Given the description of an element on the screen output the (x, y) to click on. 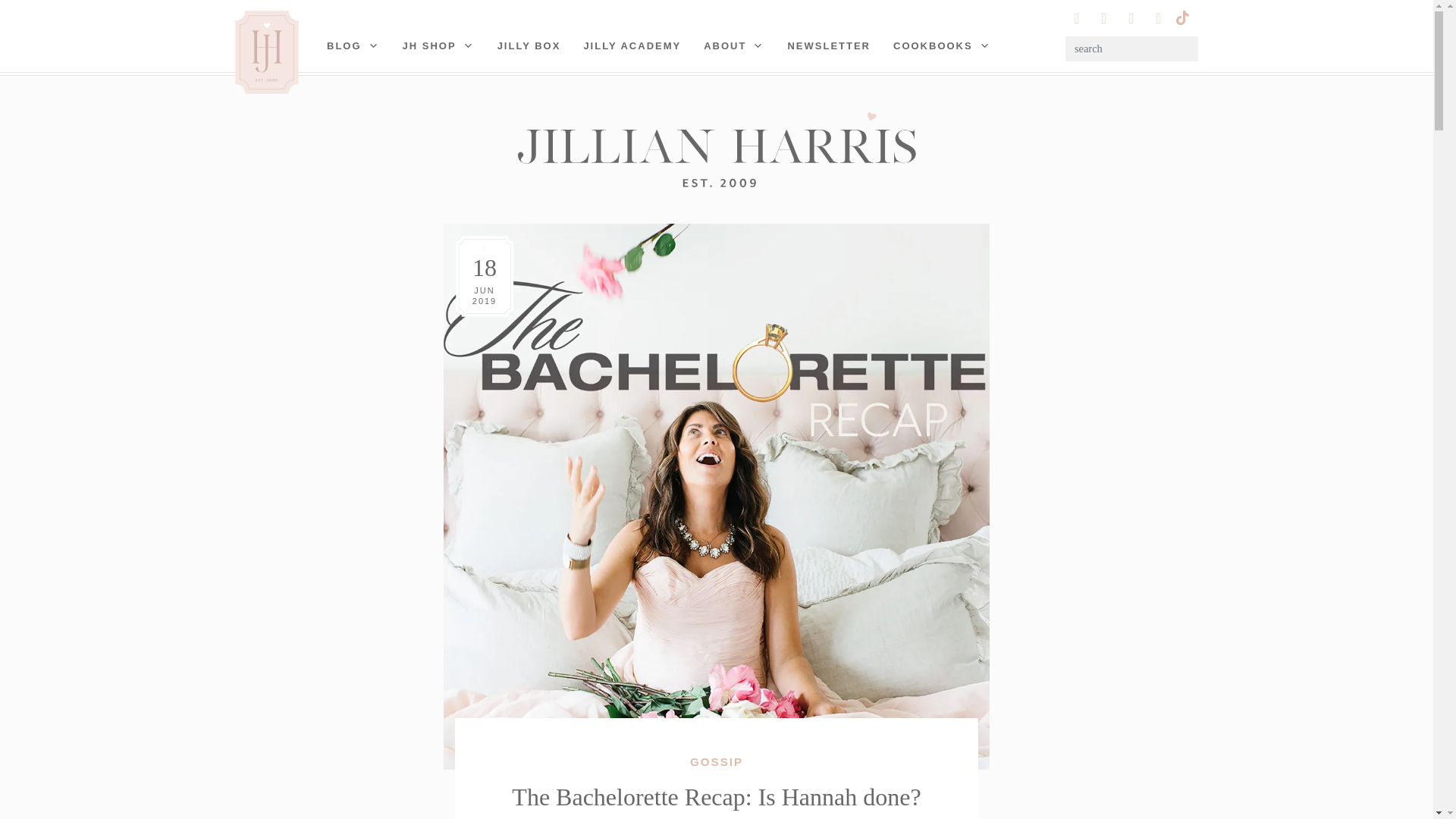
Visit our facebook account (1158, 18)
Visit our youtube account (1130, 18)
BLOG (353, 46)
Visit our pinterest account (1104, 18)
Jillian Harris Design Inc. (716, 149)
Visit our instagram account (1076, 18)
Visit our tiktok account (1181, 15)
